Given the description of an element on the screen output the (x, y) to click on. 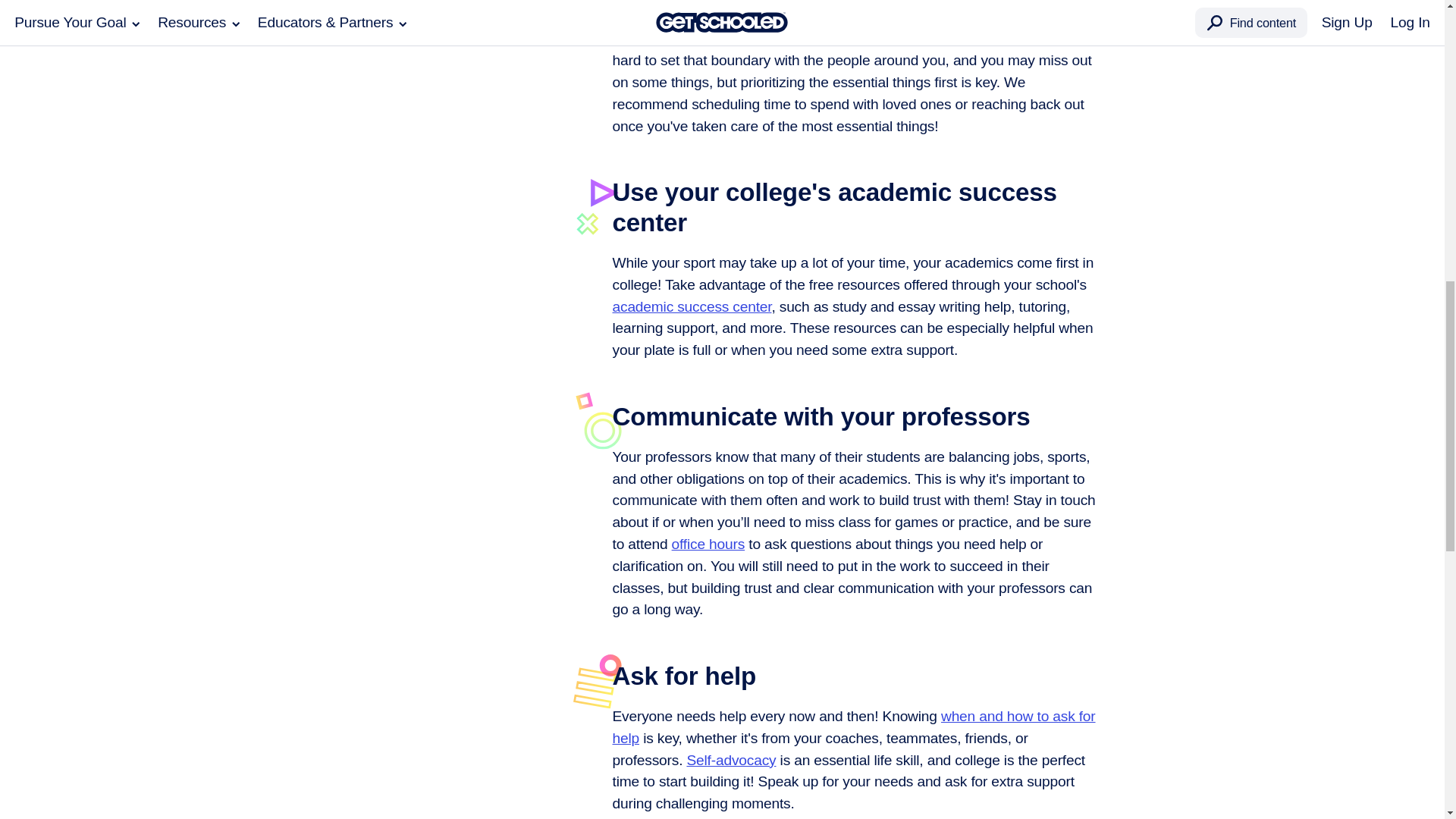
feel empowered to say no (852, 27)
